Given the description of an element on the screen output the (x, y) to click on. 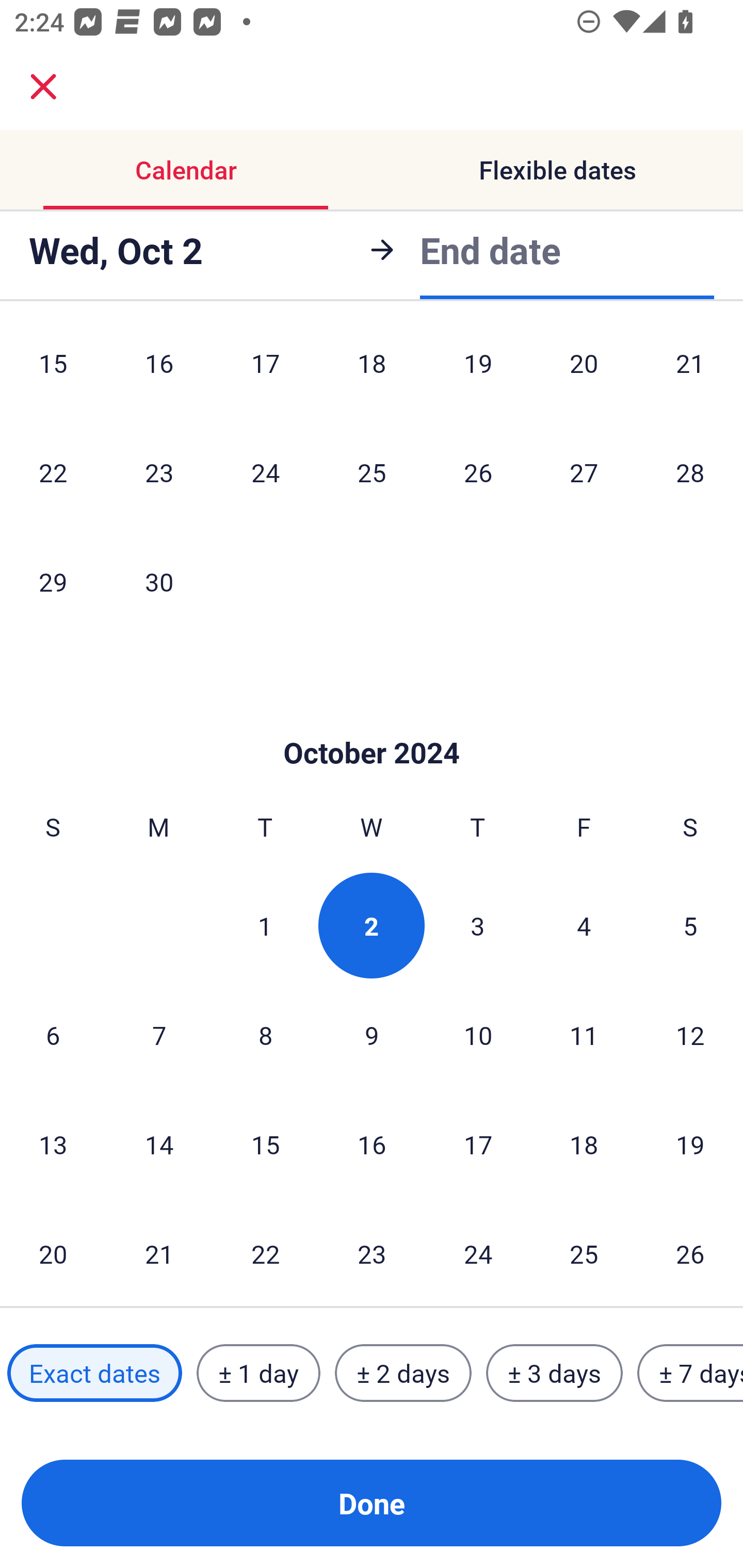
close. (43, 86)
Flexible dates (557, 170)
End date (489, 249)
15 Sunday, September 15, 2024 (53, 372)
16 Monday, September 16, 2024 (159, 372)
17 Tuesday, September 17, 2024 (265, 372)
18 Wednesday, September 18, 2024 (371, 372)
19 Thursday, September 19, 2024 (477, 372)
20 Friday, September 20, 2024 (584, 372)
21 Saturday, September 21, 2024 (690, 372)
22 Sunday, September 22, 2024 (53, 471)
23 Monday, September 23, 2024 (159, 471)
24 Tuesday, September 24, 2024 (265, 471)
25 Wednesday, September 25, 2024 (371, 471)
26 Thursday, September 26, 2024 (477, 471)
27 Friday, September 27, 2024 (584, 471)
28 Saturday, September 28, 2024 (690, 471)
29 Sunday, September 29, 2024 (53, 581)
30 Monday, September 30, 2024 (159, 581)
Skip to Done (371, 721)
1 Tuesday, October 1, 2024 (264, 925)
3 Thursday, October 3, 2024 (477, 925)
4 Friday, October 4, 2024 (584, 925)
5 Saturday, October 5, 2024 (690, 925)
6 Sunday, October 6, 2024 (53, 1034)
7 Monday, October 7, 2024 (159, 1034)
8 Tuesday, October 8, 2024 (265, 1034)
9 Wednesday, October 9, 2024 (371, 1034)
10 Thursday, October 10, 2024 (477, 1034)
11 Friday, October 11, 2024 (584, 1034)
12 Saturday, October 12, 2024 (690, 1034)
13 Sunday, October 13, 2024 (53, 1143)
14 Monday, October 14, 2024 (159, 1143)
15 Tuesday, October 15, 2024 (265, 1143)
16 Wednesday, October 16, 2024 (371, 1143)
17 Thursday, October 17, 2024 (477, 1143)
18 Friday, October 18, 2024 (584, 1143)
19 Saturday, October 19, 2024 (690, 1143)
20 Sunday, October 20, 2024 (53, 1253)
21 Monday, October 21, 2024 (159, 1253)
22 Tuesday, October 22, 2024 (265, 1253)
23 Wednesday, October 23, 2024 (371, 1253)
24 Thursday, October 24, 2024 (477, 1253)
25 Friday, October 25, 2024 (584, 1253)
26 Saturday, October 26, 2024 (690, 1253)
Exact dates (94, 1372)
± 1 day (258, 1372)
± 2 days (403, 1372)
± 3 days (553, 1372)
± 7 days (690, 1372)
